Given the description of an element on the screen output the (x, y) to click on. 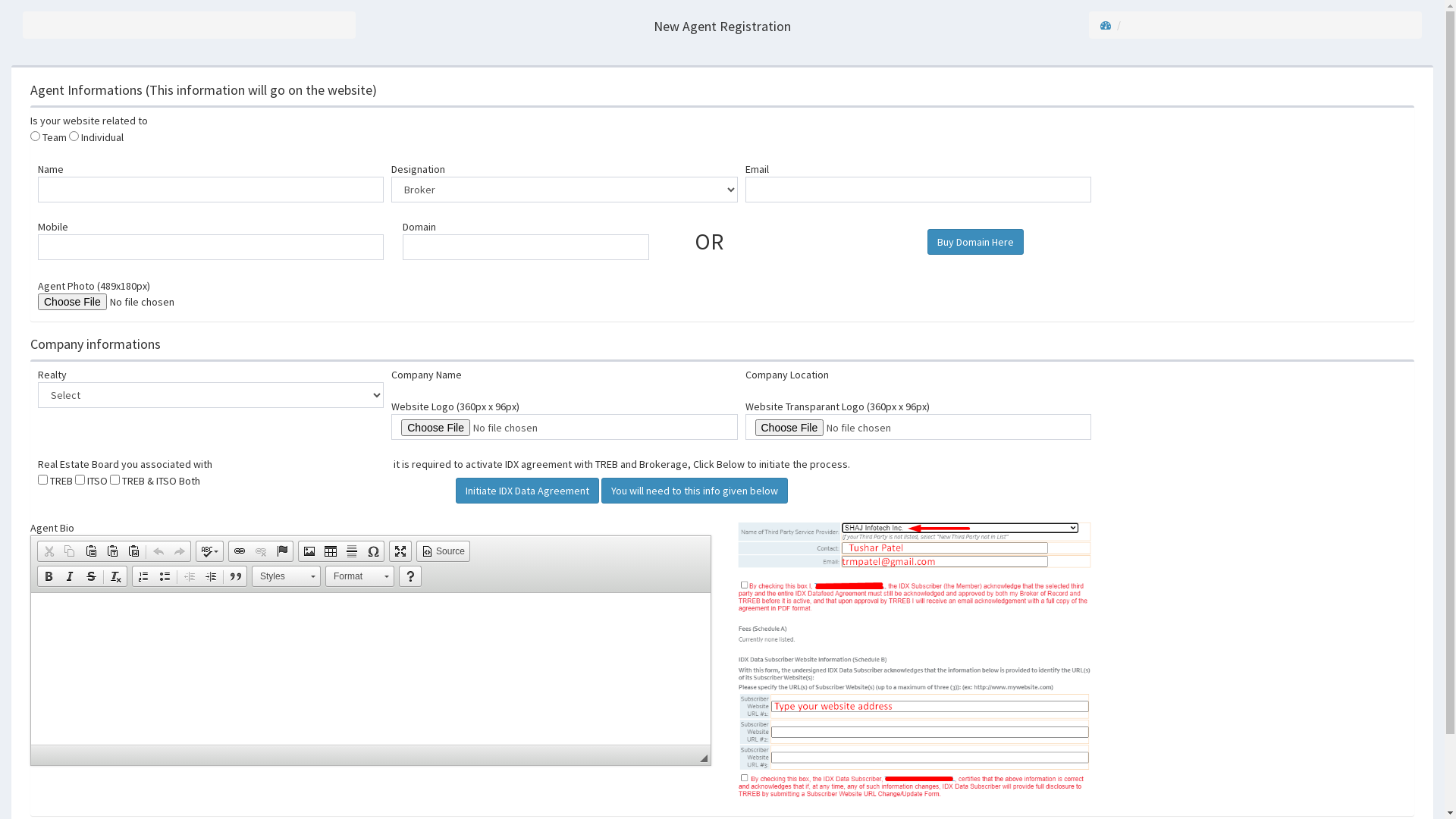
Maximize Element type: hover (400, 551)
Remove Format Element type: hover (115, 576)
Unlink Element type: hover (260, 551)
Table Element type: hover (330, 551)
Link Element type: hover (239, 551)
Anchor Element type: hover (281, 551)
Insert/Remove Bulleted List Element type: hover (164, 576)
Insert Horizontal Line Element type: hover (351, 551)
Decrease Indent Element type: hover (189, 576)
About CKEditor Element type: hover (409, 576)
Strike Through Element type: hover (90, 576)
Bold Element type: hover (48, 576)
Insert/Remove Numbered List Element type: hover (142, 576)
Insert Special Character Element type: hover (372, 551)
Copy Element type: hover (69, 551)
Cut Element type: hover (48, 551)
Italic Element type: hover (69, 576)
Paste Element type: hover (90, 551)
Buy Domain Here Element type: text (975, 241)
Undo Element type: hover (158, 551)
Initiate IDX Data Agreement Element type: text (527, 490)
Rich Text Editor, editor1 Element type: hover (370, 668)
Block Quote Element type: hover (235, 576)
Increase Indent Element type: hover (210, 576)
Paste from Word Element type: hover (133, 551)
Paste as plain text Element type: hover (111, 551)
Image Element type: hover (309, 551)
You will need to this info given below Element type: text (694, 490)
Redo Element type: hover (179, 551)
